Given the description of an element on the screen output the (x, y) to click on. 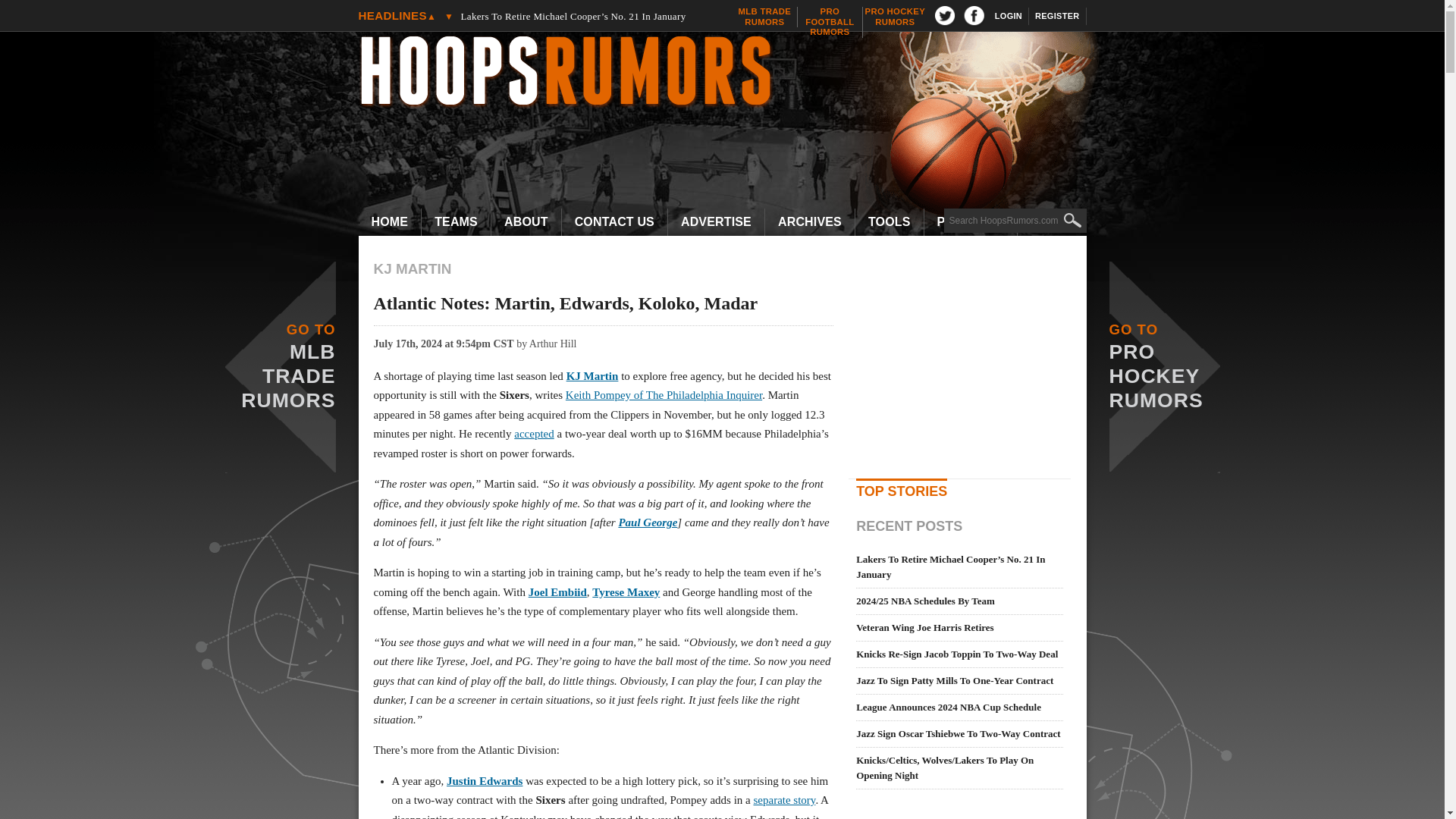
Hoops Rumors (729, 72)
teams (457, 221)
REGISTER (1057, 16)
TEAMS (457, 221)
HOME (764, 16)
Search for: (829, 21)
